Given the description of an element on the screen output the (x, y) to click on. 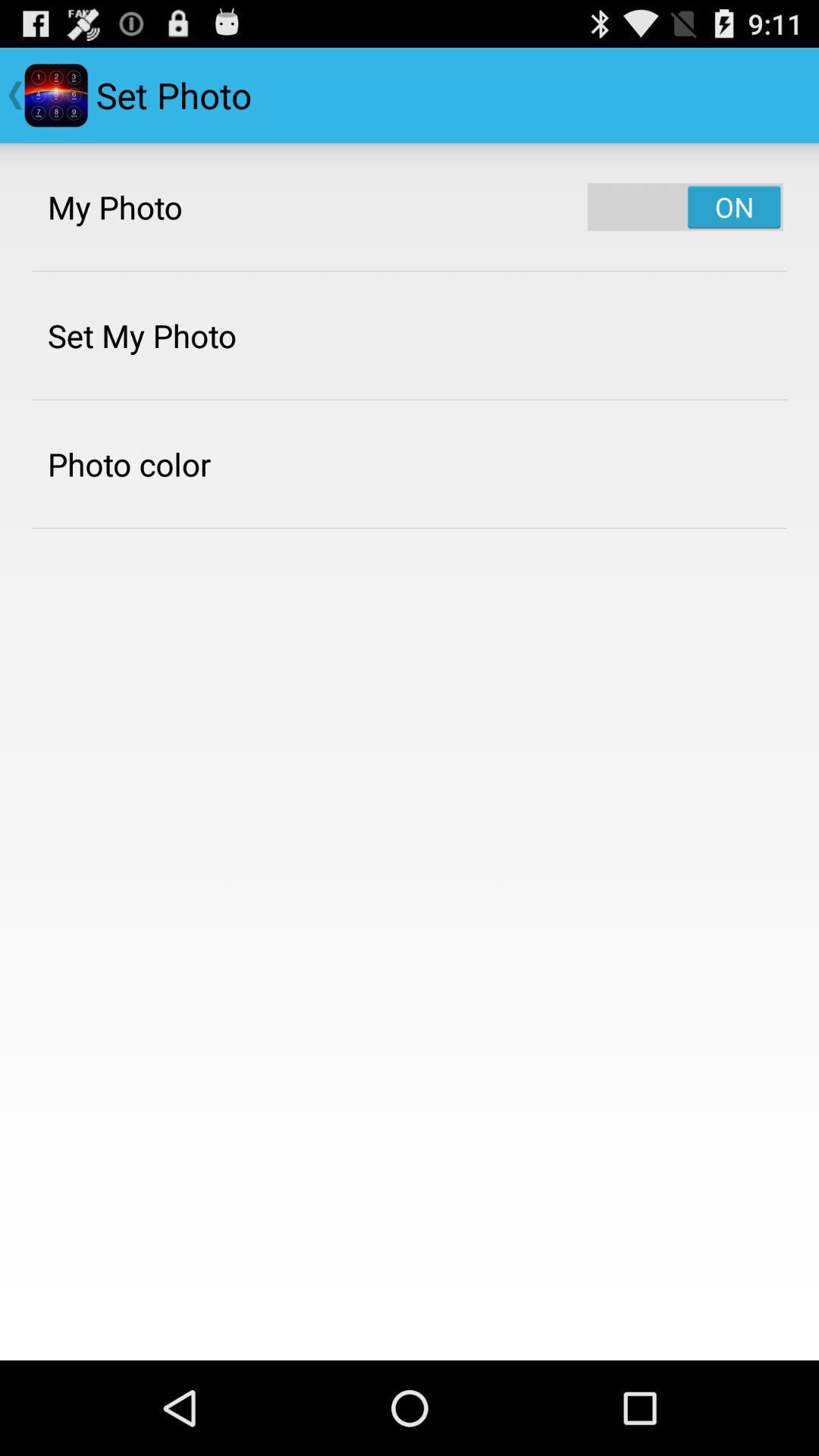
turn off photo color icon (129, 463)
